Given the description of an element on the screen output the (x, y) to click on. 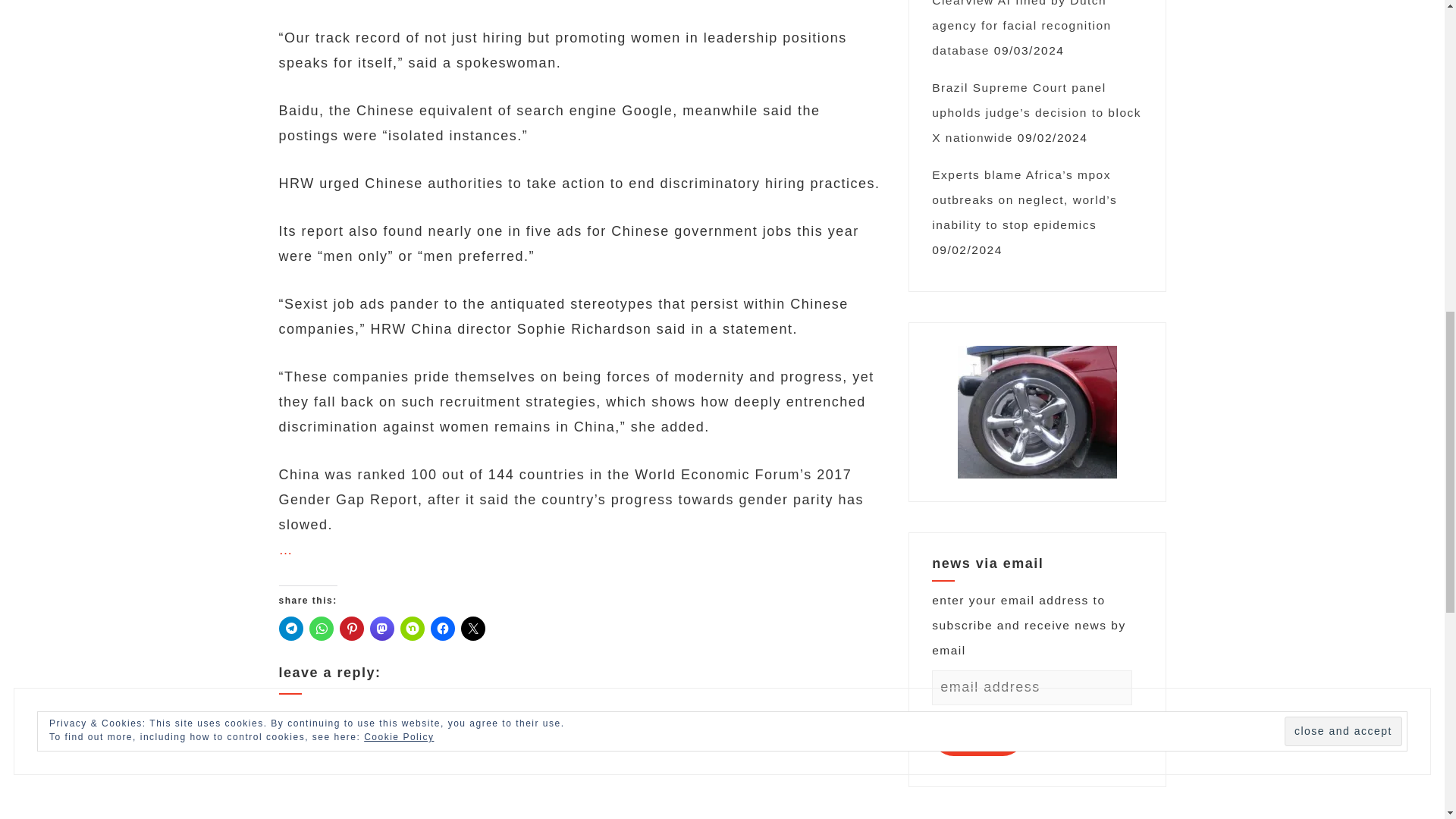
Click to share on Facebook (442, 628)
Click to share on Nextdoor (412, 628)
Click to share on X (472, 628)
Comment Form (580, 767)
Click to share on WhatsApp (320, 628)
Click to share on Mastodon (381, 628)
subscribe (978, 733)
Click to share on Pinterest (351, 628)
Click to share on Telegram (290, 628)
